Given the description of an element on the screen output the (x, y) to click on. 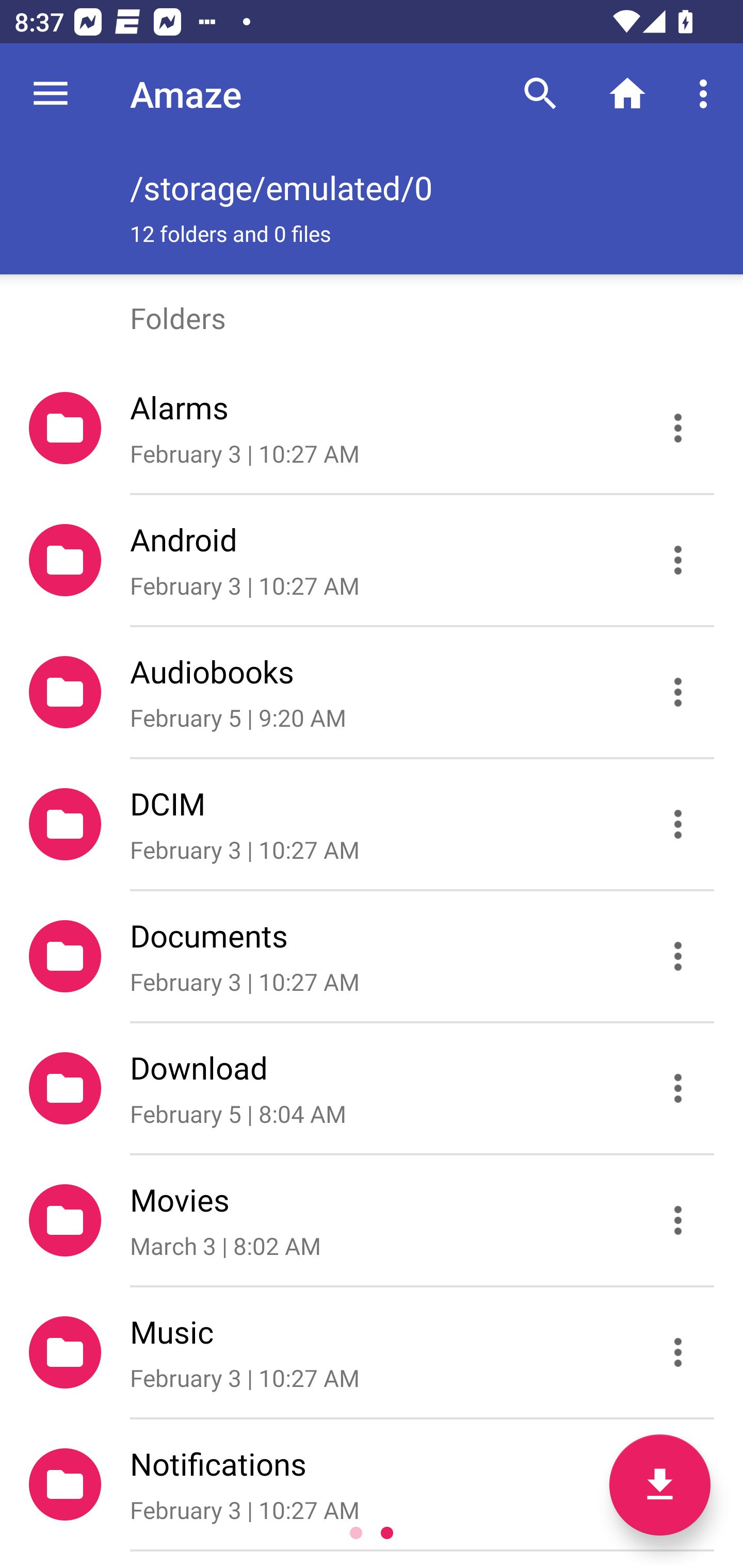
Navigate up (50, 93)
Search (540, 93)
Home (626, 93)
More options (706, 93)
Alarms February 3 | 10:27 AM (371, 427)
Android February 3 | 10:27 AM (371, 560)
Audiobooks February 5 | 9:20 AM (371, 692)
DCIM February 3 | 10:27 AM (371, 823)
Documents February 3 | 10:27 AM (371, 955)
Download February 5 | 8:04 AM (371, 1088)
Movies March 3 | 8:02 AM (371, 1220)
Music February 3 | 10:27 AM (371, 1352)
Notifications February 3 | 10:27 AM (371, 1484)
